Given the description of an element on the screen output the (x, y) to click on. 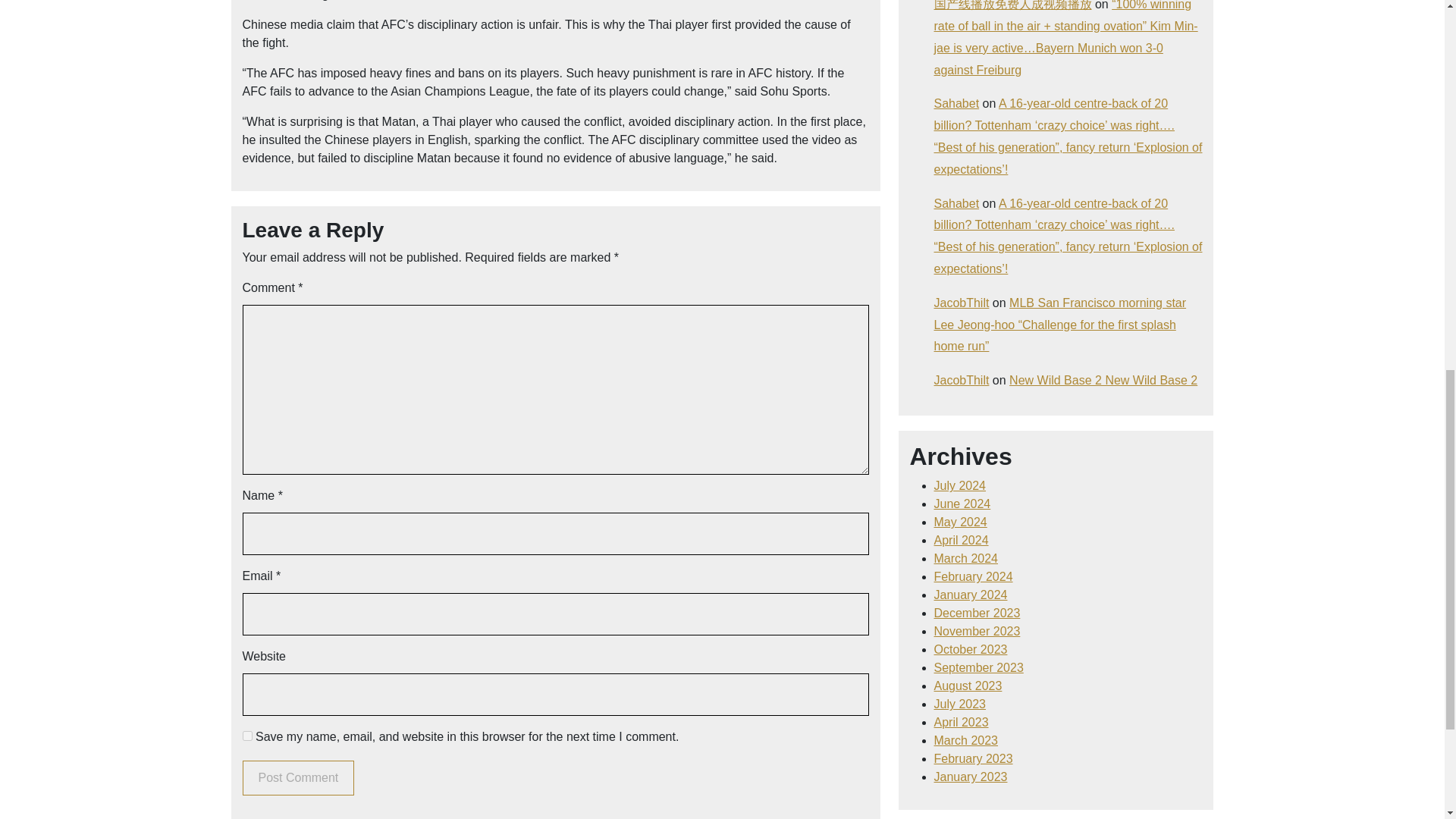
September 2023 (978, 667)
January 2024 (970, 594)
New Wild Base 2 New Wild Base 2 (1102, 379)
Sahabet (956, 103)
February 2024 (973, 576)
November 2023 (977, 631)
July 2024 (960, 485)
Post Comment (299, 777)
October 2023 (970, 649)
June 2024 (962, 503)
Post Comment (299, 777)
December 2023 (977, 612)
April 2024 (961, 540)
August 2023 (968, 685)
JacobThilt (962, 302)
